Given the description of an element on the screen output the (x, y) to click on. 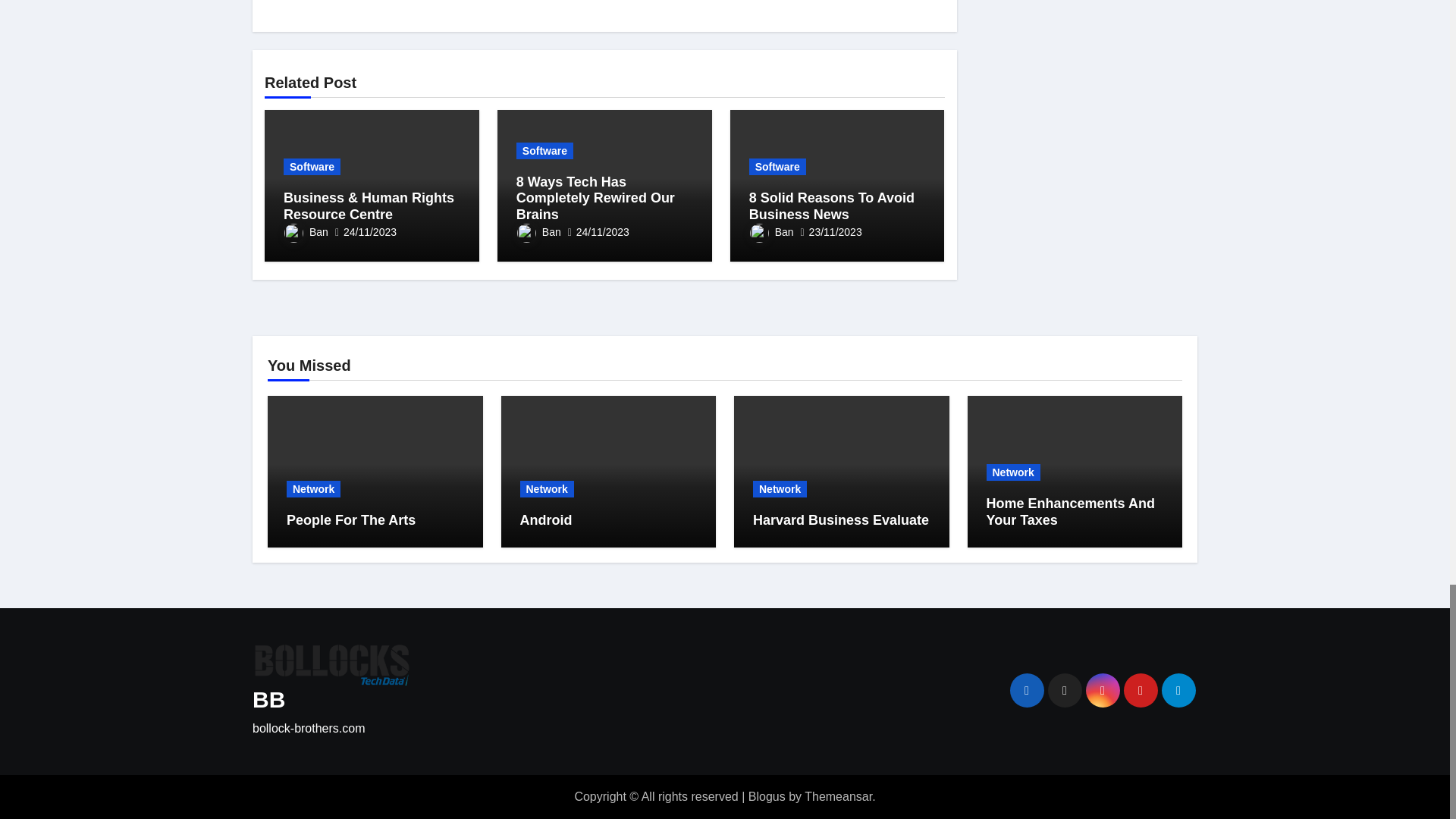
Permalink to: Home Enhancements And Your Taxes (1069, 511)
Permalink to: Harvard Business Evaluate (840, 519)
Permalink to: People For The Arts (350, 519)
Permalink to: Android (545, 519)
Permalink to: 8 Ways Tech Has Completely Rewired Our Brains (595, 197)
Permalink to: 8 Solid Reasons To Avoid Business News (831, 205)
